Given the description of an element on the screen output the (x, y) to click on. 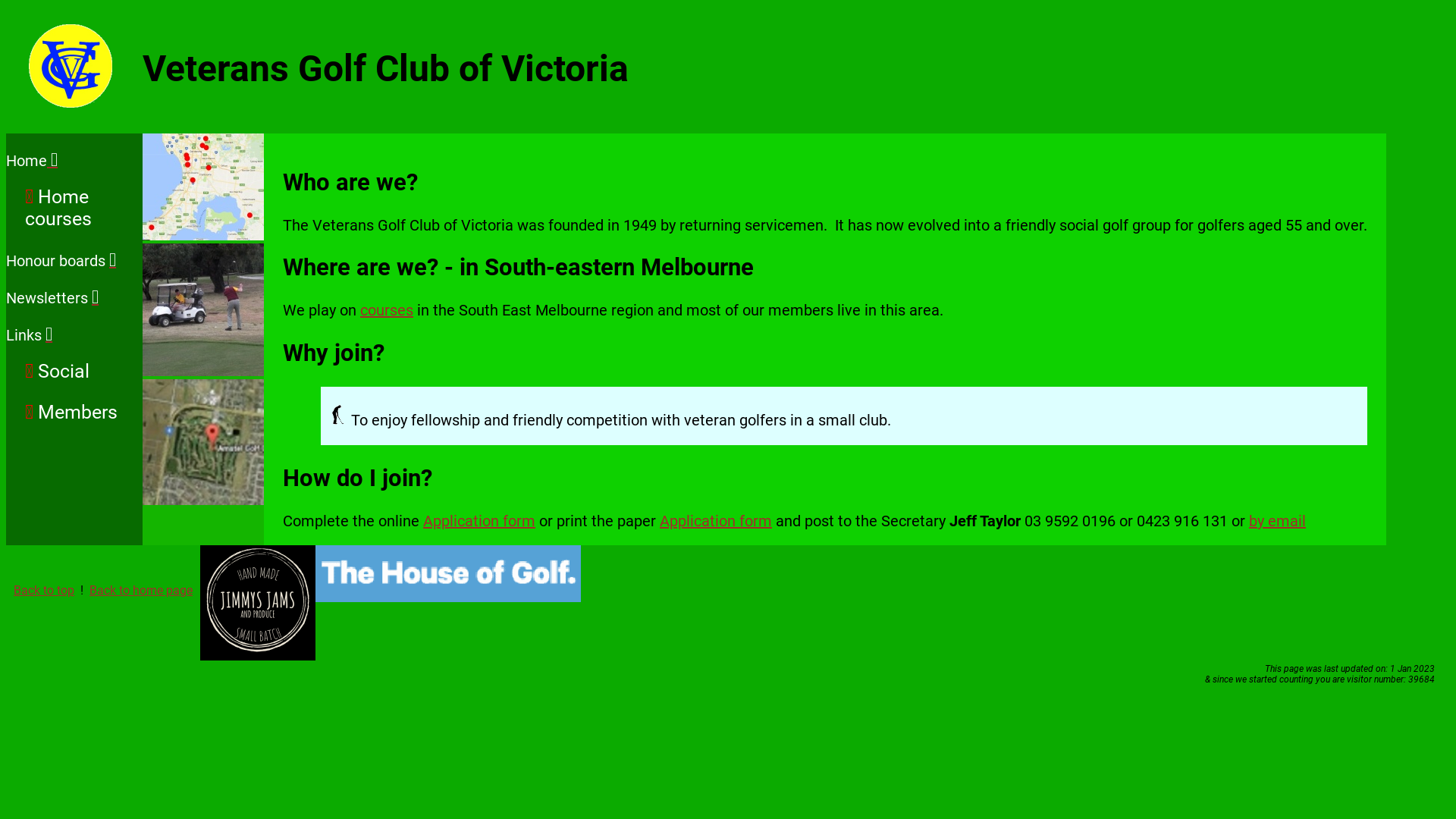
Club Sponsor Element type: hover (257, 602)
Back to home page Element type: text (140, 590)
courses Element type: text (386, 310)
by email Element type: text (1276, 520)
Club Sponsor Element type: hover (447, 573)
Application form Element type: text (479, 520)
Application form Element type: text (715, 520)
Back to top Element type: text (43, 590)
Club Logo Element type: hover (70, 65)
